Given the description of an element on the screen output the (x, y) to click on. 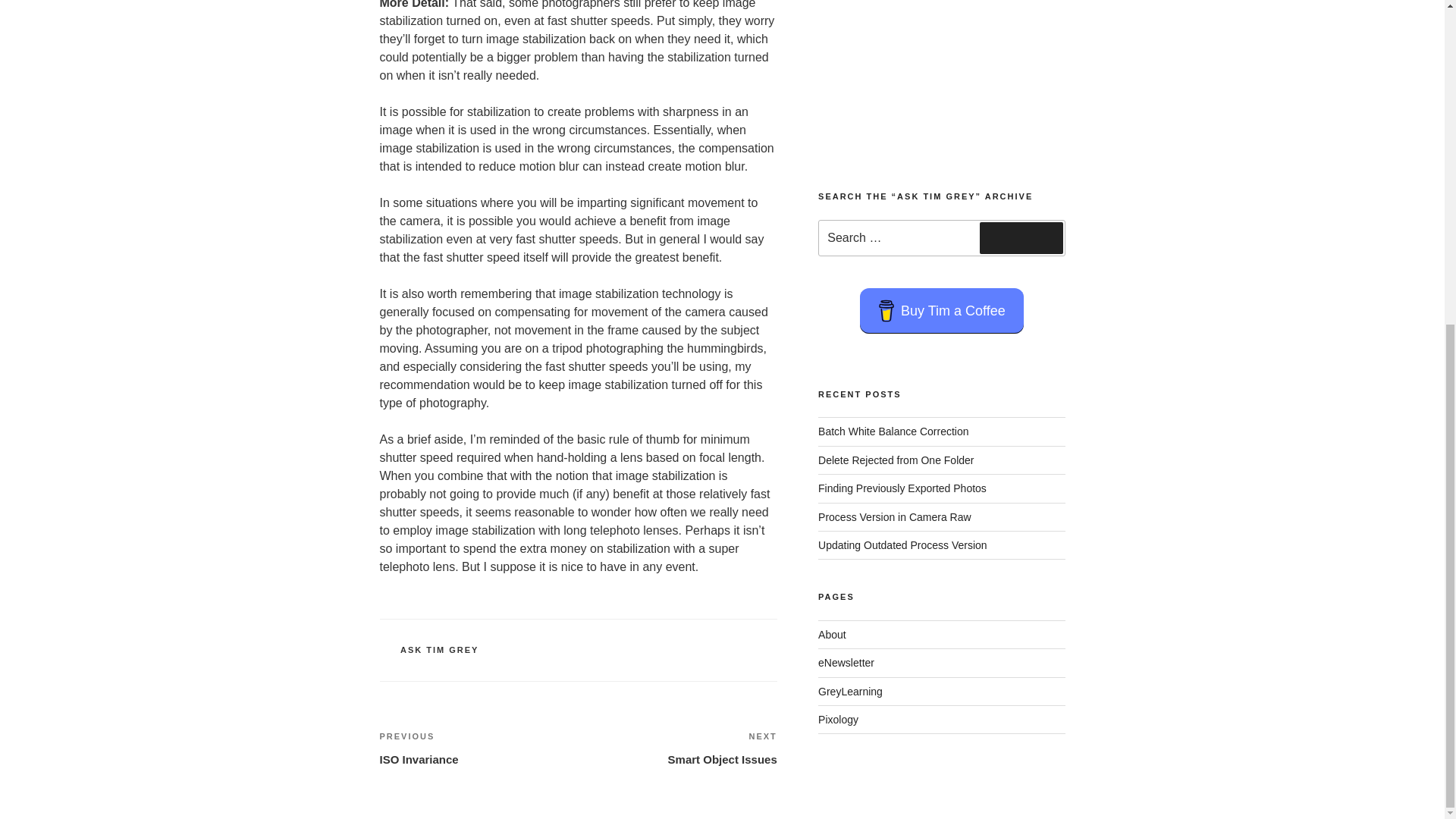
Process Version in Camera Raw (894, 517)
Batch White Balance Correction (893, 431)
Pixology (838, 719)
Updating Outdated Process Version (902, 544)
Buy Tim a Coffee (941, 310)
Delete Rejected from One Folder (677, 748)
GreyLearning (896, 460)
About (850, 691)
Finding Previously Exported Photos (831, 634)
